Given the description of an element on the screen output the (x, y) to click on. 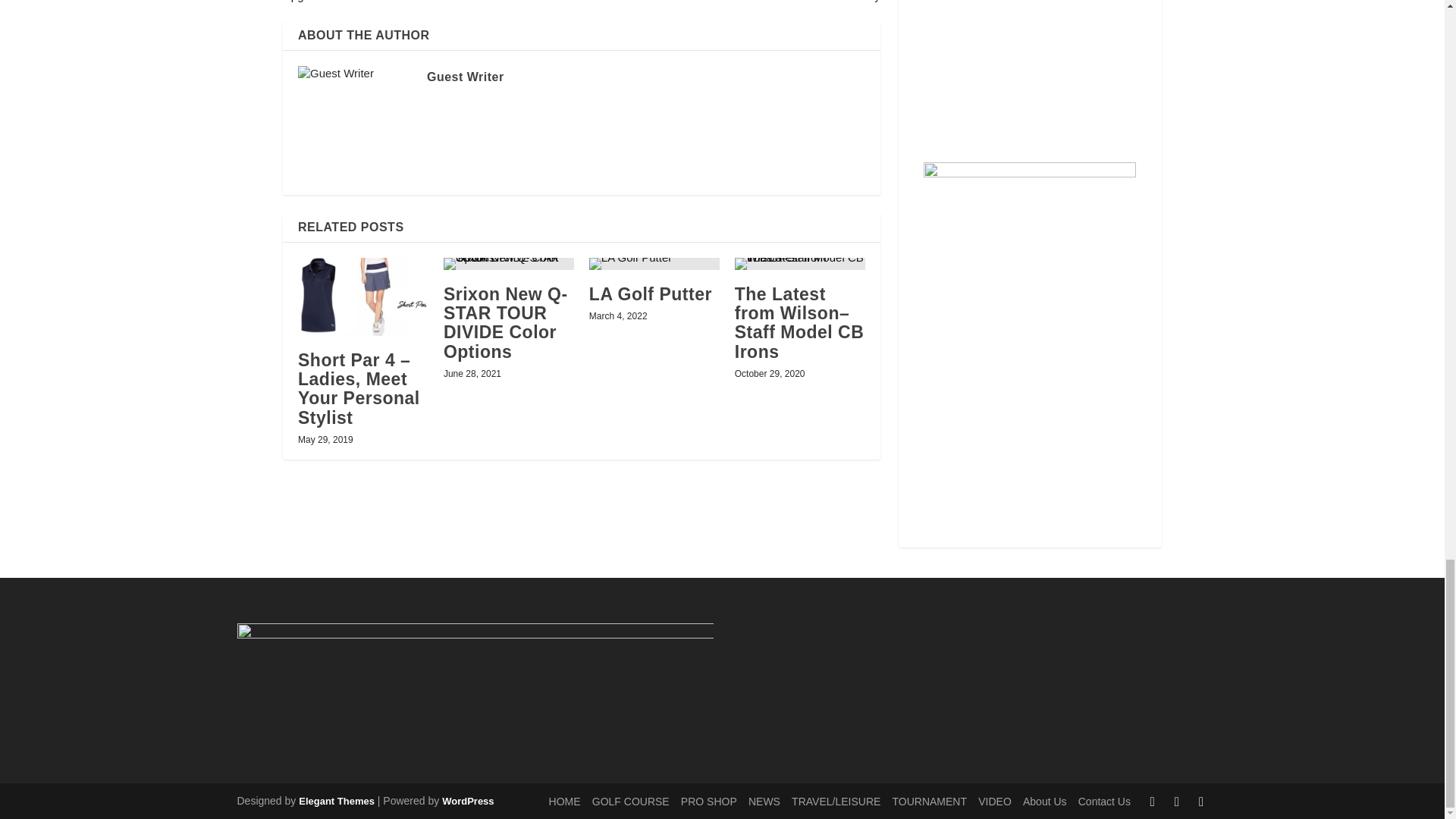
LA Golf Putter (654, 263)
Premium WordPress Themes (336, 800)
View all posts by Guest Writer (464, 76)
Srixon New Q-STAR TOUR DIVIDE Color Options (508, 263)
